Given the description of an element on the screen output the (x, y) to click on. 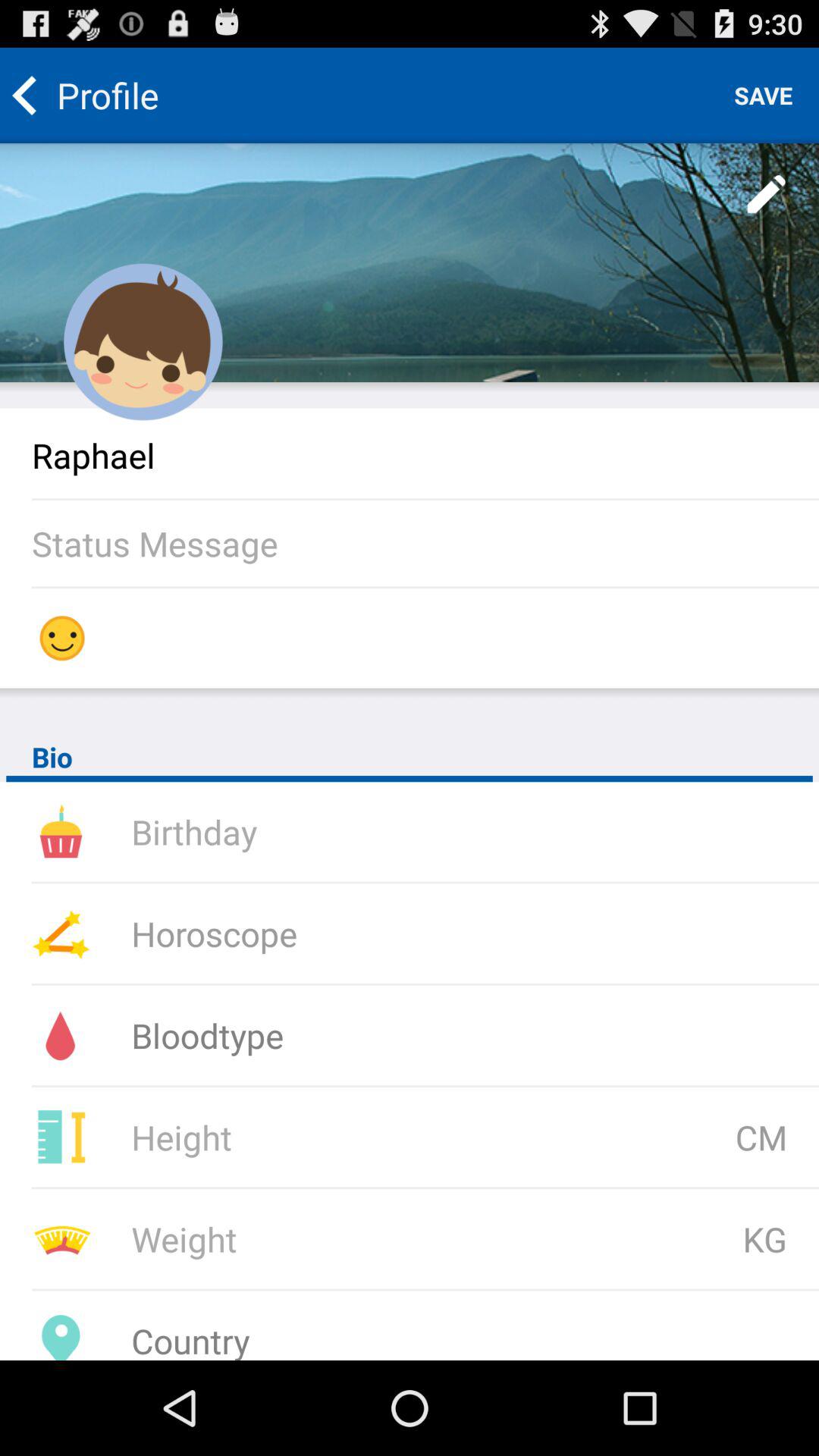
see date (333, 831)
